Given the description of an element on the screen output the (x, y) to click on. 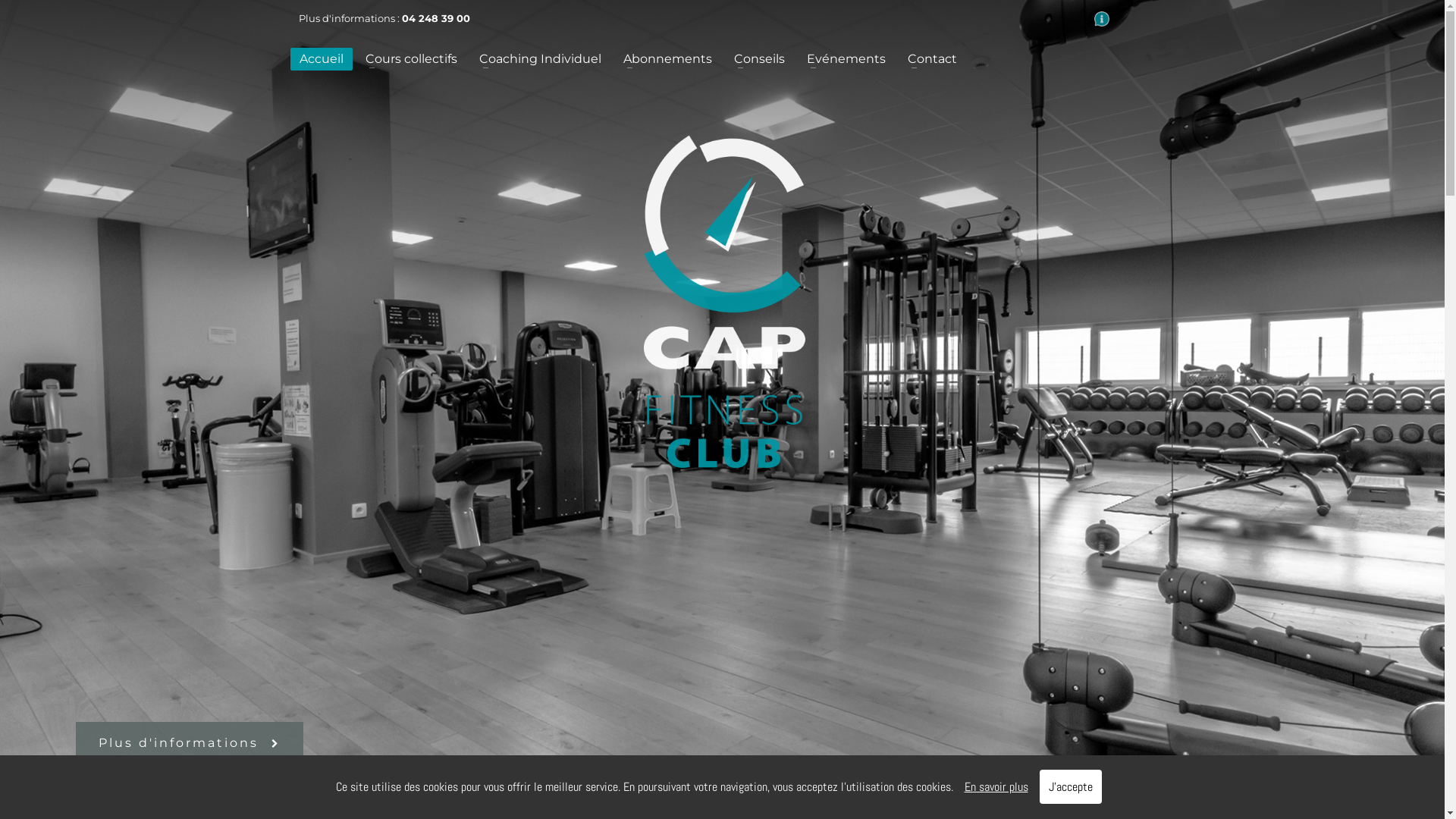
Contact Element type: text (931, 58)
Conseils Element type: text (758, 58)
Cours collectifs Element type: text (411, 58)
En savoir plus Element type: text (996, 786)
Accueil Element type: text (320, 58)
Abonnements Element type: text (667, 58)
CAP Fitness Club Element type: hover (724, 301)
Coaching Individuel Element type: text (540, 58)
04 248 39 00 Element type: text (435, 18)
